Given the description of an element on the screen output the (x, y) to click on. 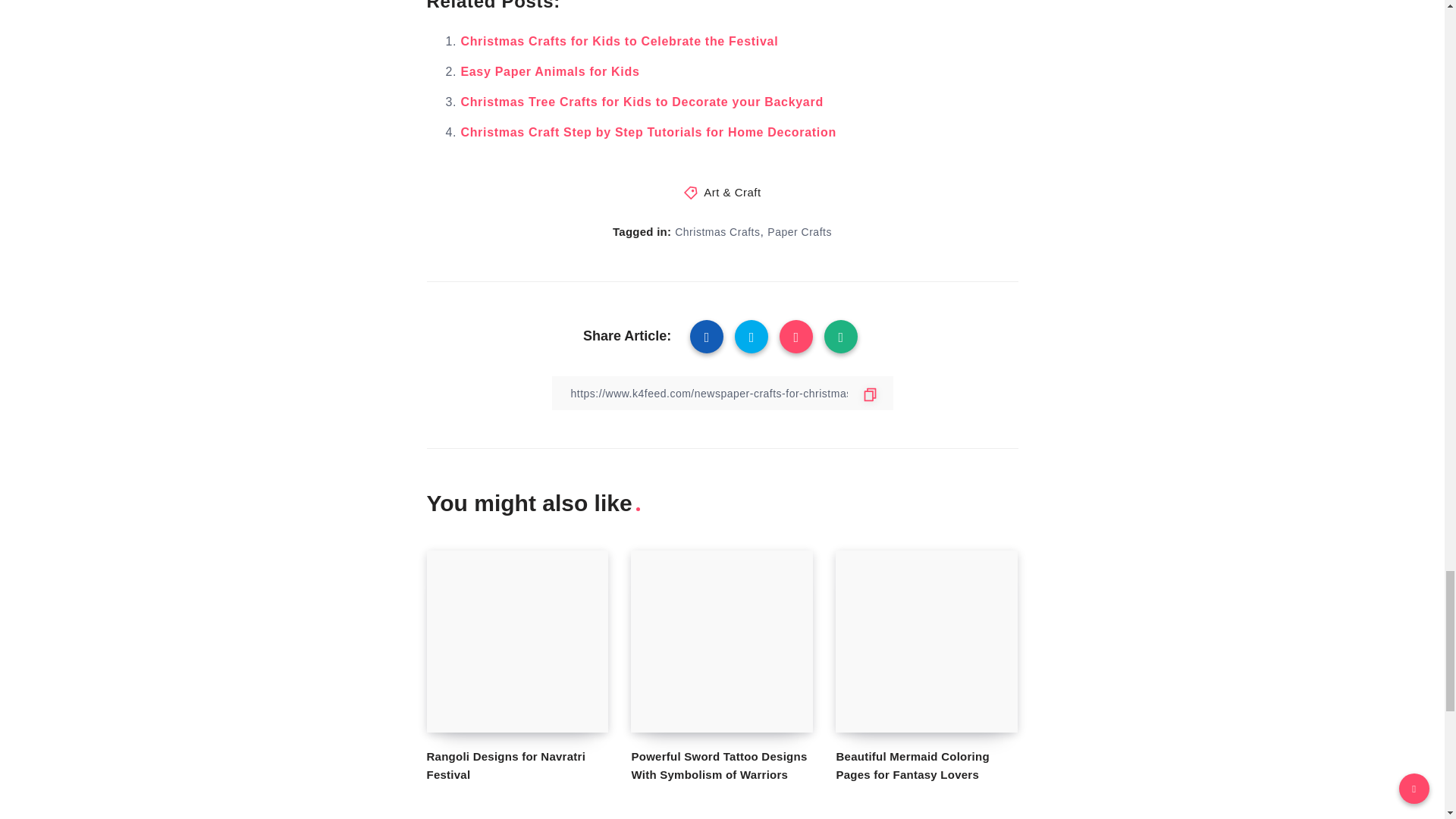
Christmas Crafts for Kids to Celebrate the Festival (618, 41)
Christmas Crafts for Kids to Celebrate the Festival (618, 41)
Christmas Craft Step by Step Tutorials for Home Decoration (647, 132)
Easy Paper Animals for Kids (549, 71)
Paper Crafts (799, 232)
Christmas Tree Crafts for Kids to Decorate your Backyard (641, 101)
Easy Paper Animals for Kids (549, 71)
Christmas Craft Step by Step Tutorials for Home Decoration (647, 132)
Christmas Crafts (717, 232)
Christmas Tree Crafts for Kids to Decorate your Backyard (641, 101)
